Given the description of an element on the screen output the (x, y) to click on. 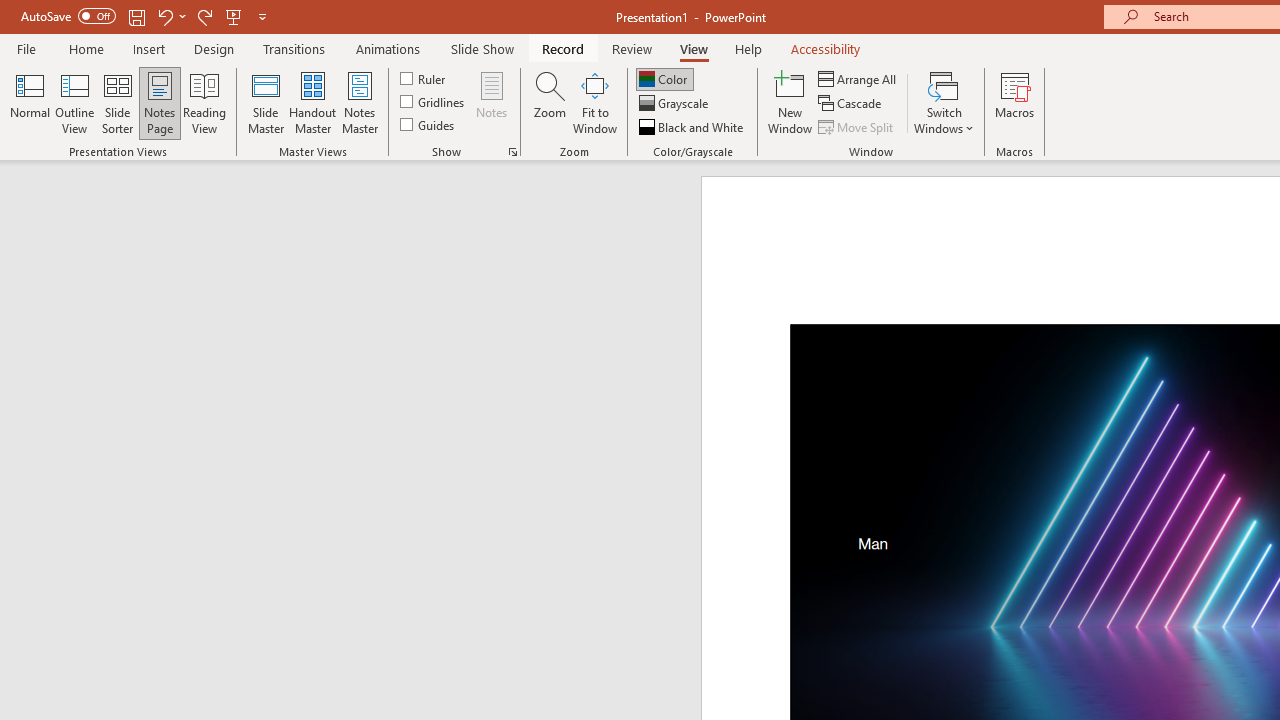
New Window (790, 102)
Outline View (74, 102)
